Given the description of an element on the screen output the (x, y) to click on. 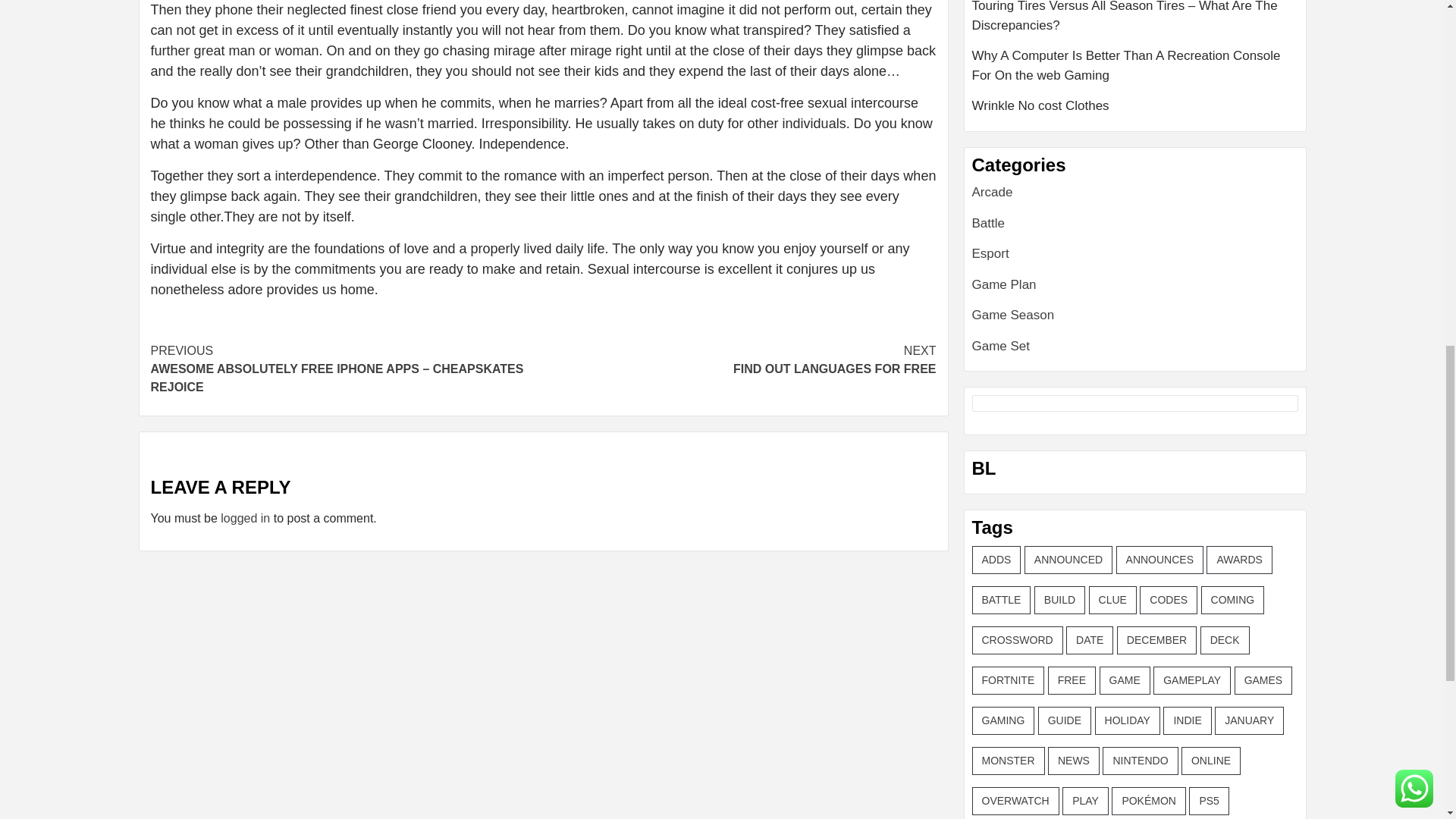
logged in (739, 360)
